Given the description of an element on the screen output the (x, y) to click on. 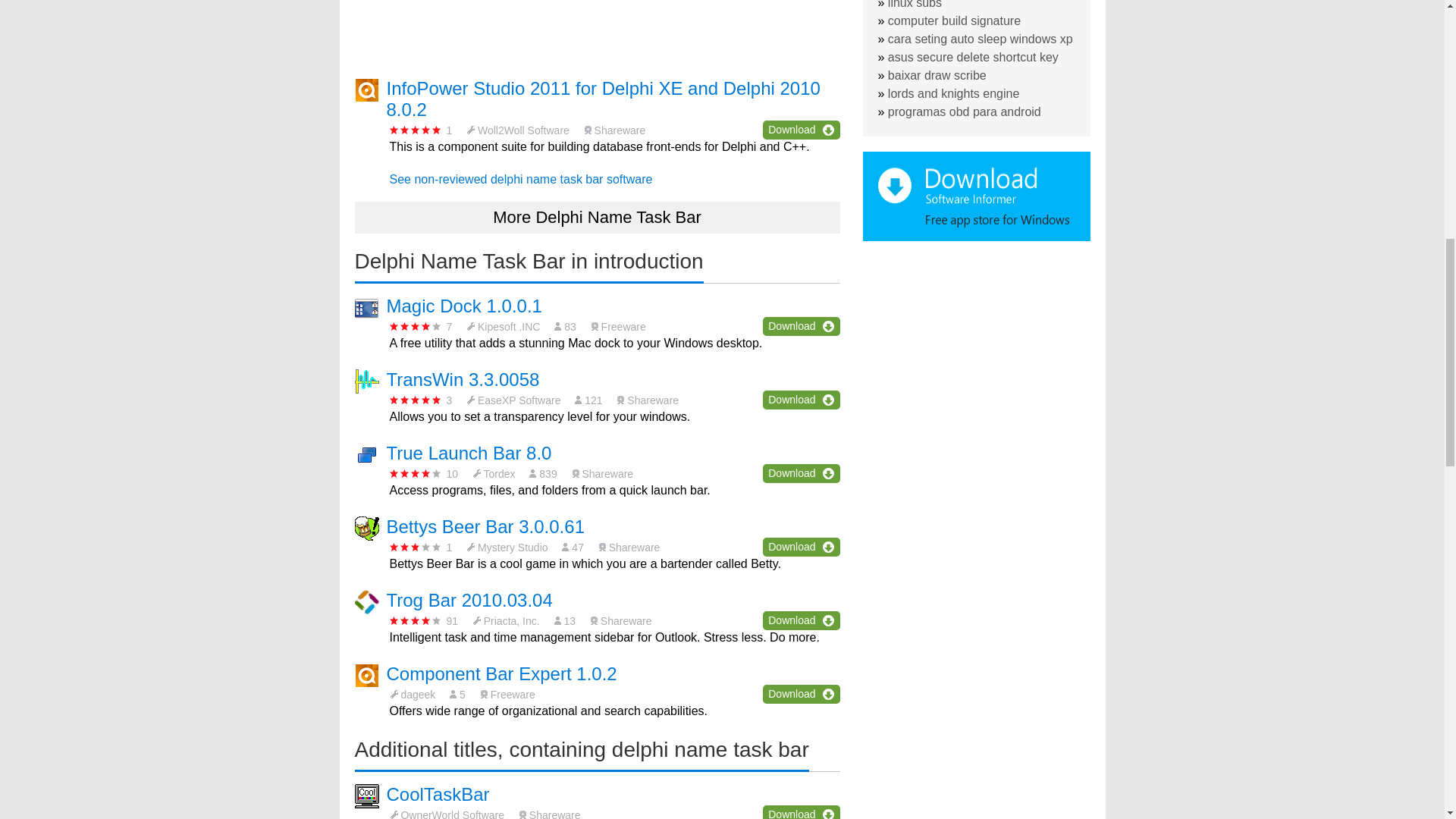
4 (415, 620)
Download (801, 325)
4.1 (415, 473)
InfoPower Studio 2011 for Delphi XE and Delphi 2010 8.0.2 (604, 98)
Bettys Beer Bar 3.0.0.61 (486, 526)
Component Bar Expert 1.0.2 (502, 673)
Advertisement (597, 29)
Download (801, 619)
TransWin 3.3.0058 (463, 379)
Bettys Beer Bar 3.0.0.61 (486, 526)
